Given the description of an element on the screen output the (x, y) to click on. 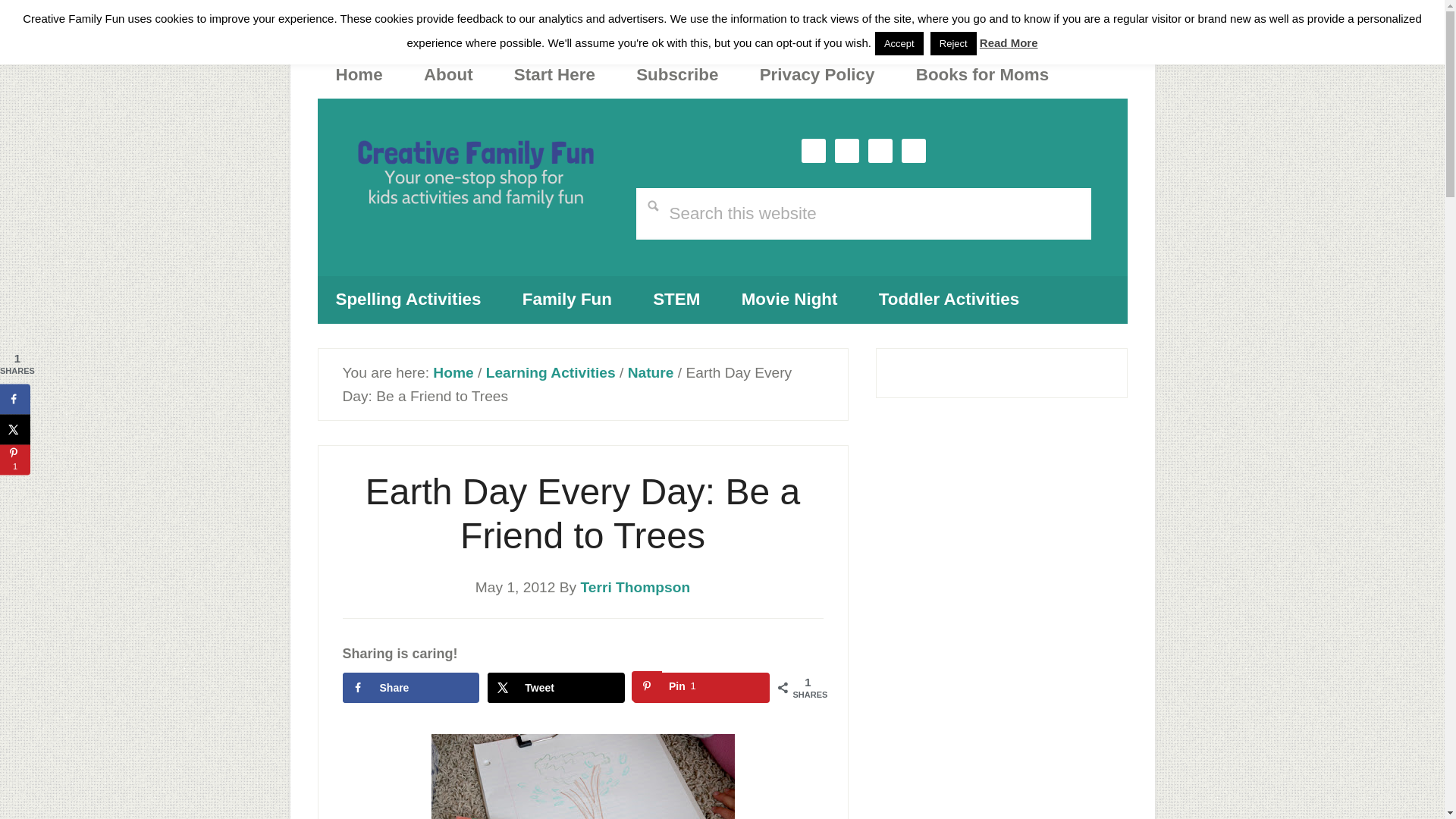
Share (410, 687)
Creative Family Fun (701, 687)
Home (474, 176)
Home (452, 372)
Search (358, 74)
Subscribe (410, 687)
Save to Pinterest (676, 74)
About (701, 687)
